Given the description of an element on the screen output the (x, y) to click on. 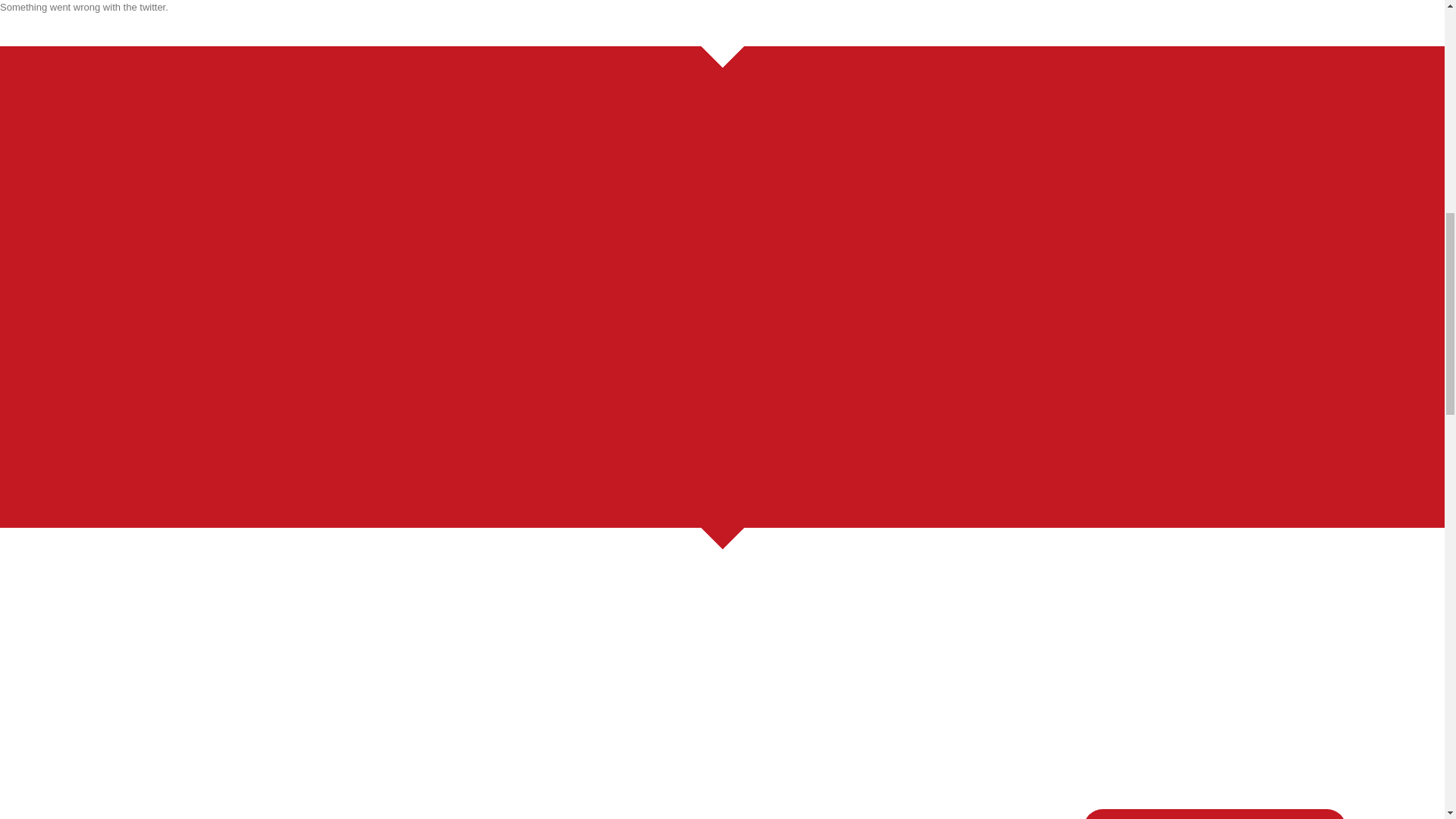
vision-mission-icon-011 (267, 281)
Something went wrong with the twitter. (722, 22)
LEARN MORE ABOUT US (1214, 814)
